Given the description of an element on the screen output the (x, y) to click on. 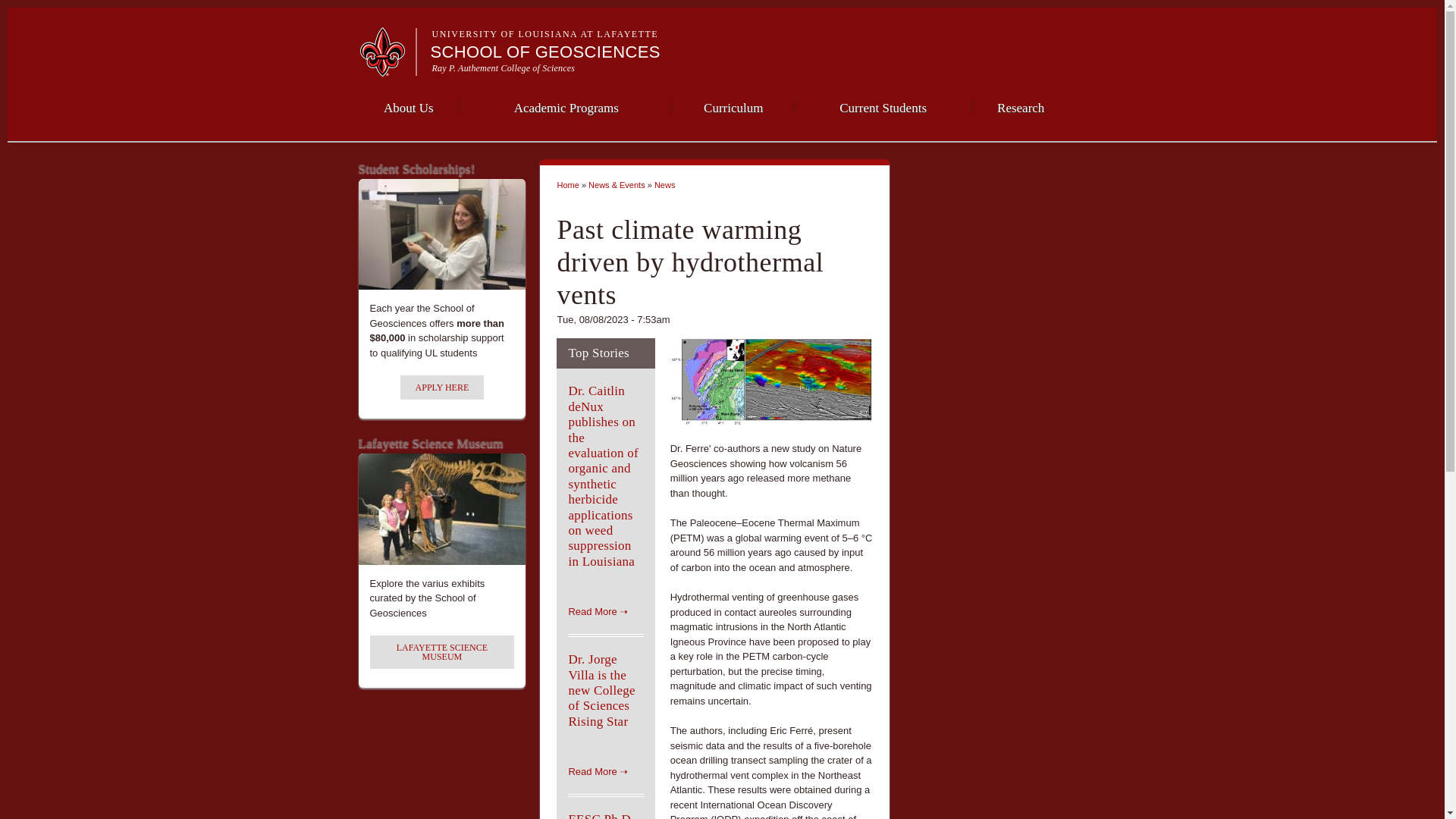
Current Students (882, 106)
Ray P. Authement College of Sciences (503, 68)
Explore (1048, 20)
SCHOOL OF GEOSCIENCES (545, 51)
Academic Programs (565, 106)
Louisiana.edu (387, 69)
About Us (408, 106)
Home (545, 51)
Skip to main content (693, 1)
